Given the description of an element on the screen output the (x, y) to click on. 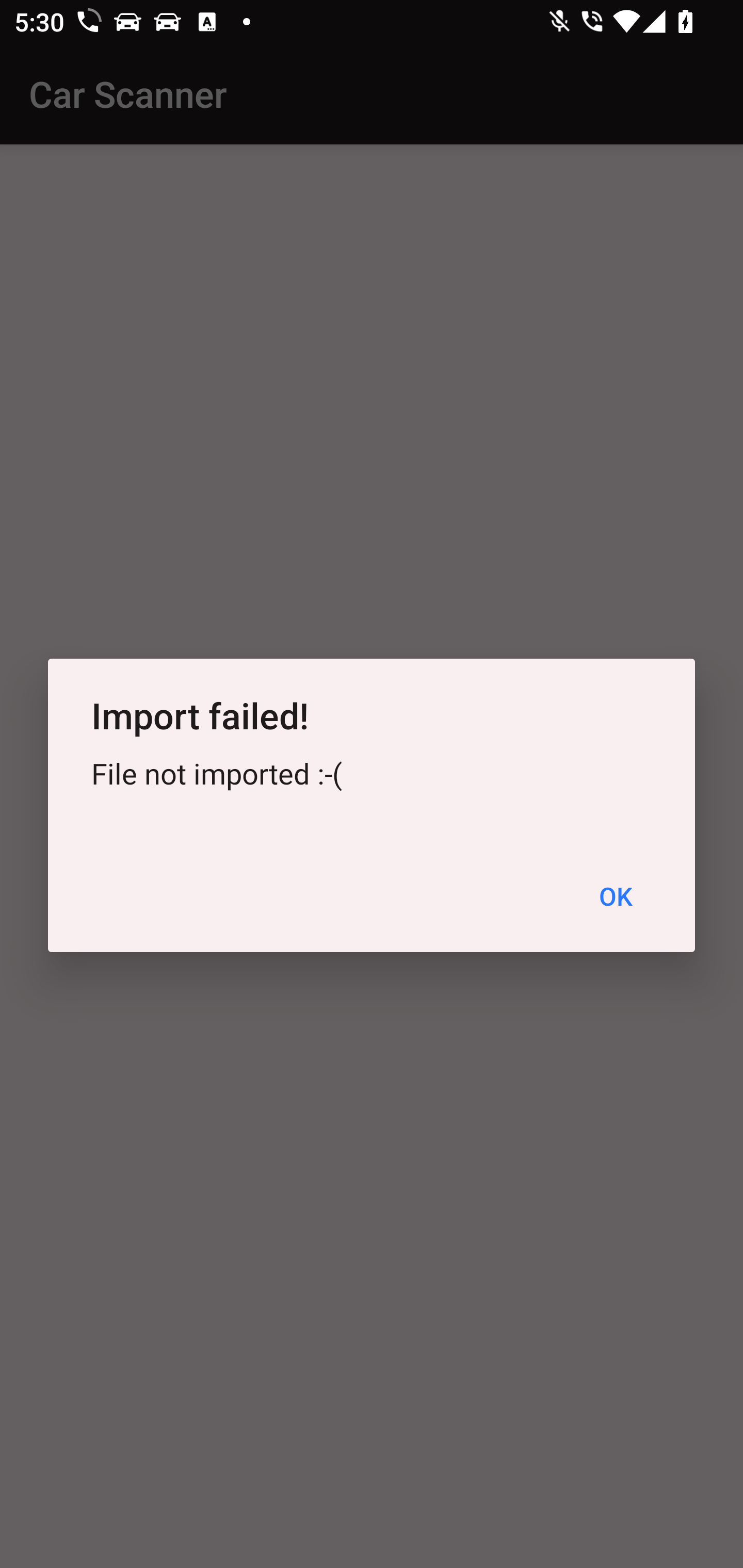
OK (615, 895)
